Given the description of an element on the screen output the (x, y) to click on. 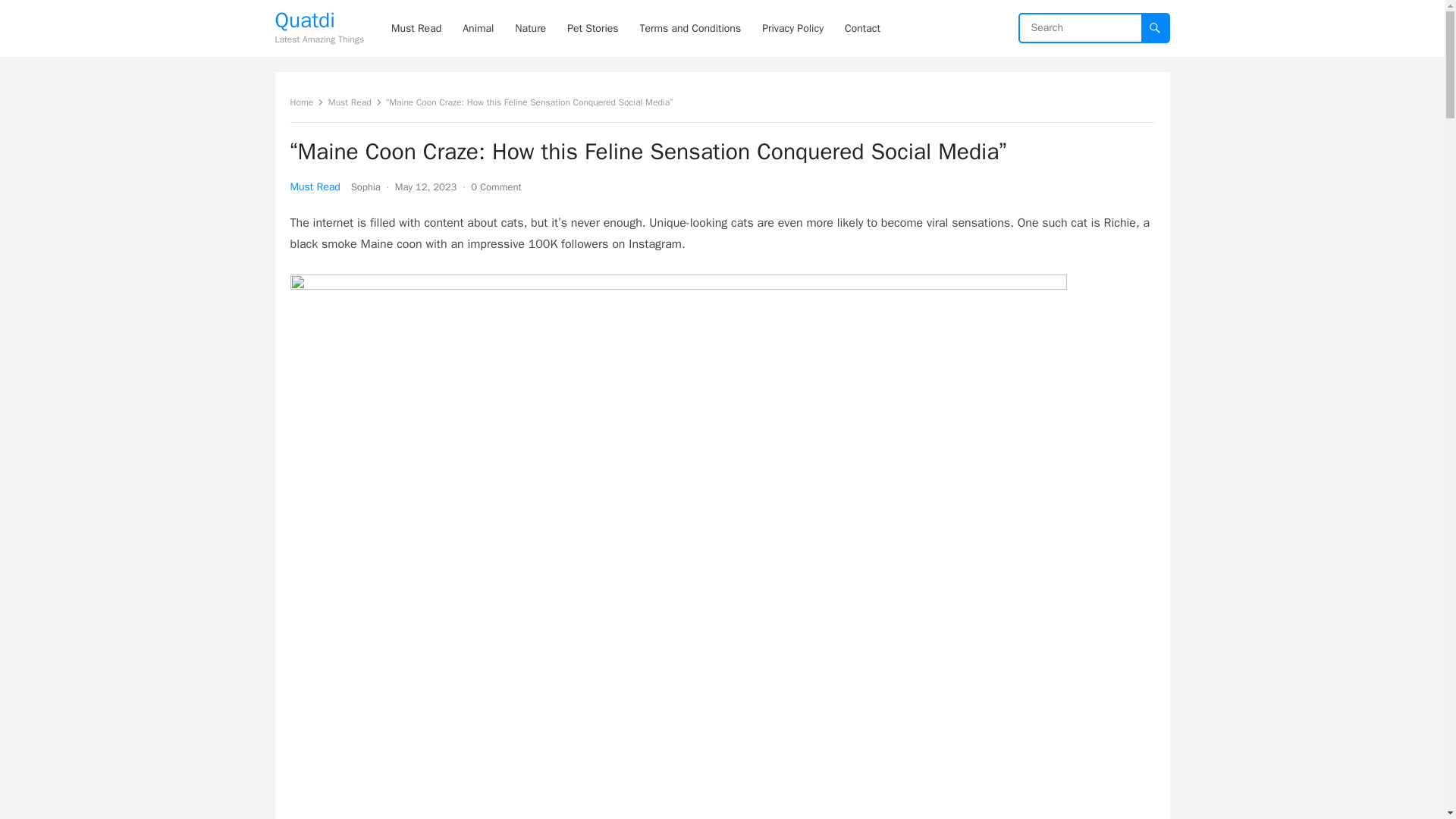
Terms and Conditions (690, 28)
Quatdi (318, 20)
Must Read (415, 28)
Must Read (314, 186)
Posts by Sophia (365, 186)
Sophia (365, 186)
Pet Stories (592, 28)
0 Comment (495, 186)
Nature (529, 28)
Must Read (355, 102)
Contact (862, 28)
Animal (477, 28)
Home (306, 102)
Privacy Policy (792, 28)
